Given the description of an element on the screen output the (x, y) to click on. 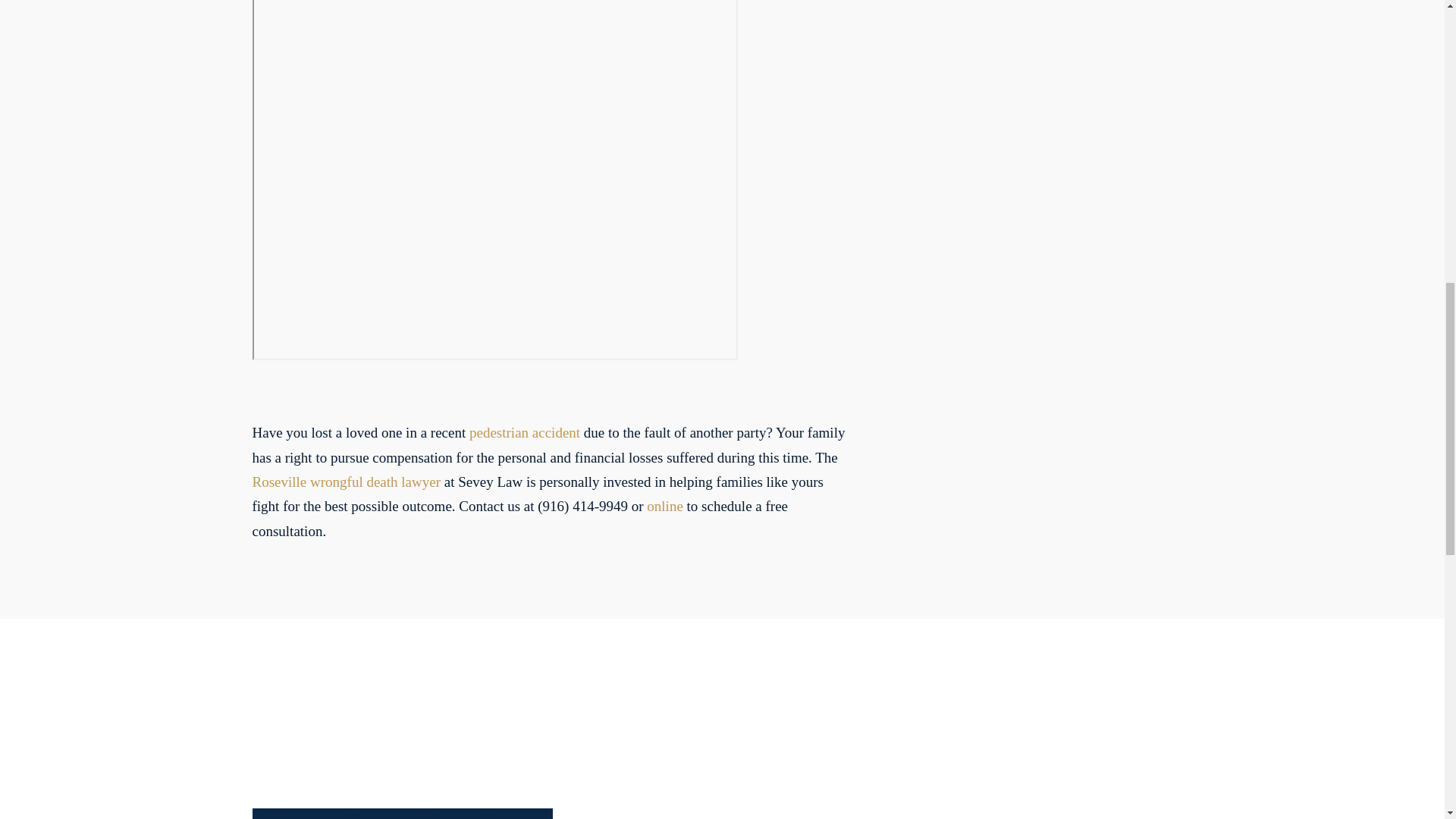
Roseville wrongful death lawyer (346, 481)
online (664, 505)
pedestrian accident (523, 432)
